Given the description of an element on the screen output the (x, y) to click on. 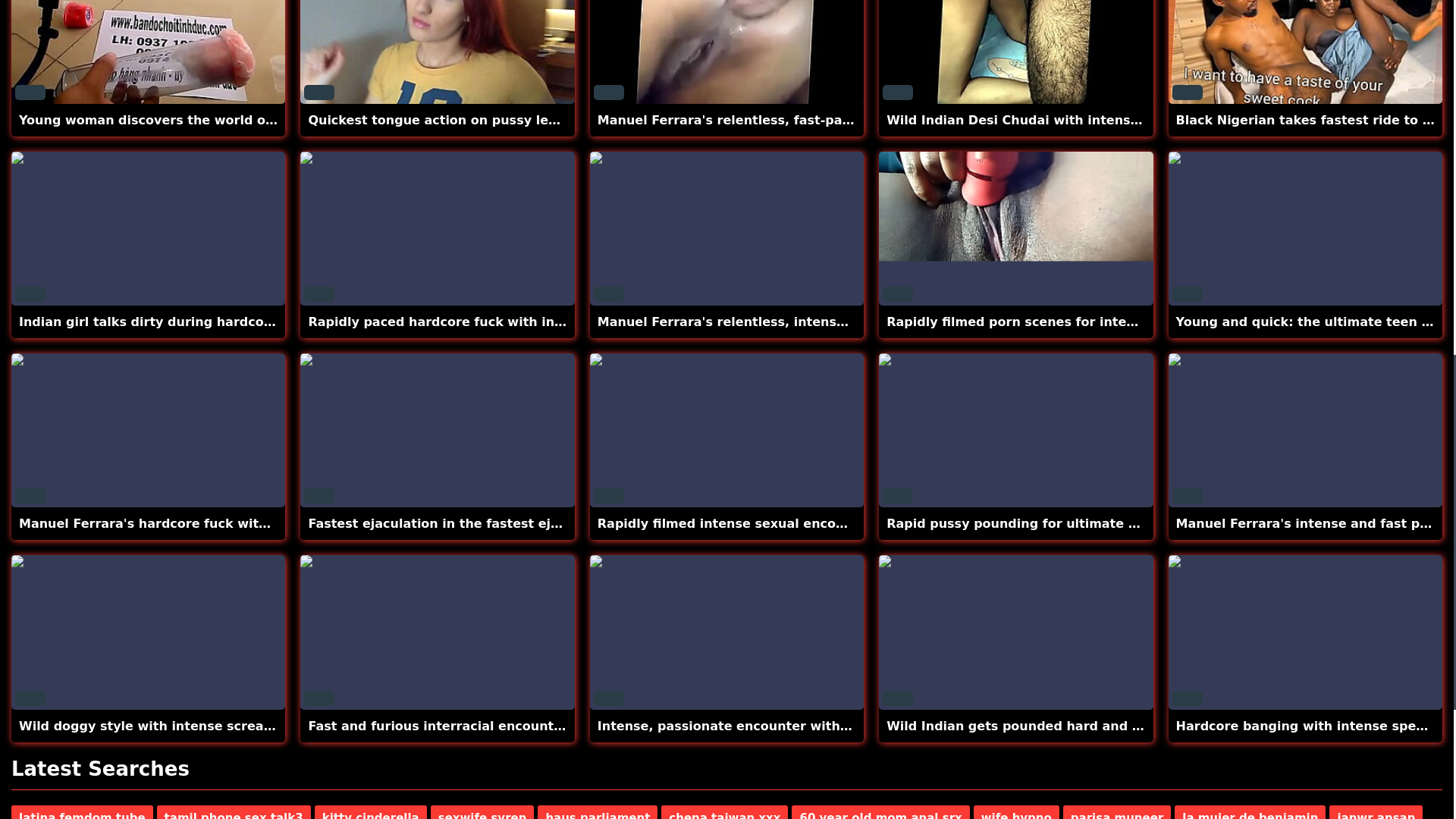
Rapidly paced hardcore fuck with intense passion. (480, 321)
Quickest tongue action on pussy leads to intense pleasure. (510, 120)
Rapidly filmed porn scenes for intense viewing experience. (1088, 321)
Manuel Ferrara's hardcore fuck with intense fingering. (205, 523)
Quickest tongue action on pussy leads to intense pleasure. (510, 120)
